Given the description of an element on the screen output the (x, y) to click on. 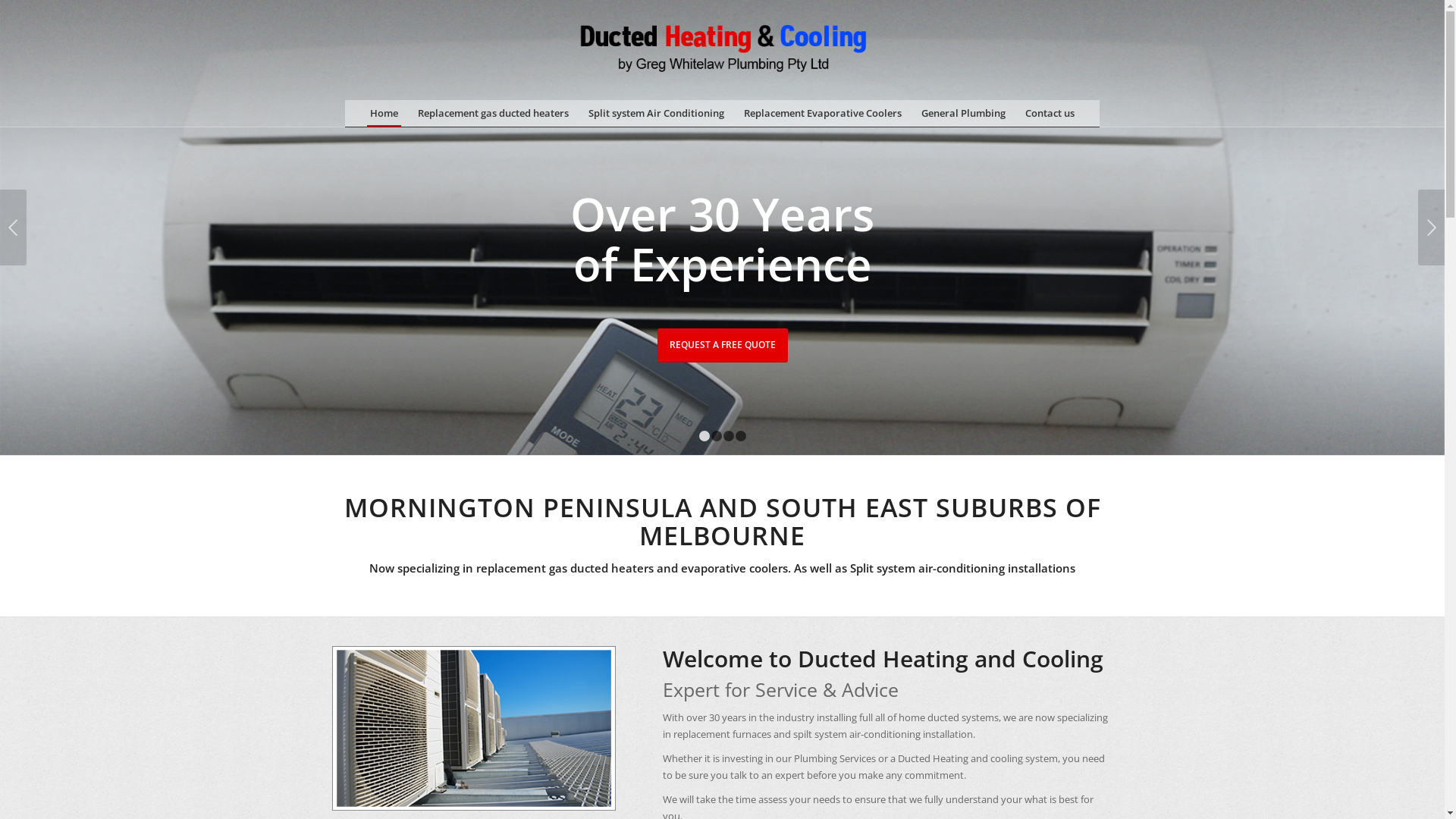
1 Element type: text (704, 435)
Split system Air Conditioning Element type: text (656, 113)
Previous Element type: text (13, 227)
General Plumbing Element type: text (963, 113)
Replacement gas ducted heaters Element type: text (492, 113)
4 Element type: text (740, 435)
Contact us Element type: text (1049, 113)
3 Element type: text (728, 435)
slide-1 Element type: hover (722, 270)
Replacement Evaporative Coolers Element type: text (822, 113)
2 Element type: text (716, 435)
REQUEST A FREE QUOTE Element type: text (721, 345)
Next Element type: text (1431, 227)
Home Element type: text (383, 113)
MORNINGTON PENINSULA AND SOUTH EAST SUBURBS OF MELBOURNE Element type: text (722, 520)
